Given the description of an element on the screen output the (x, y) to click on. 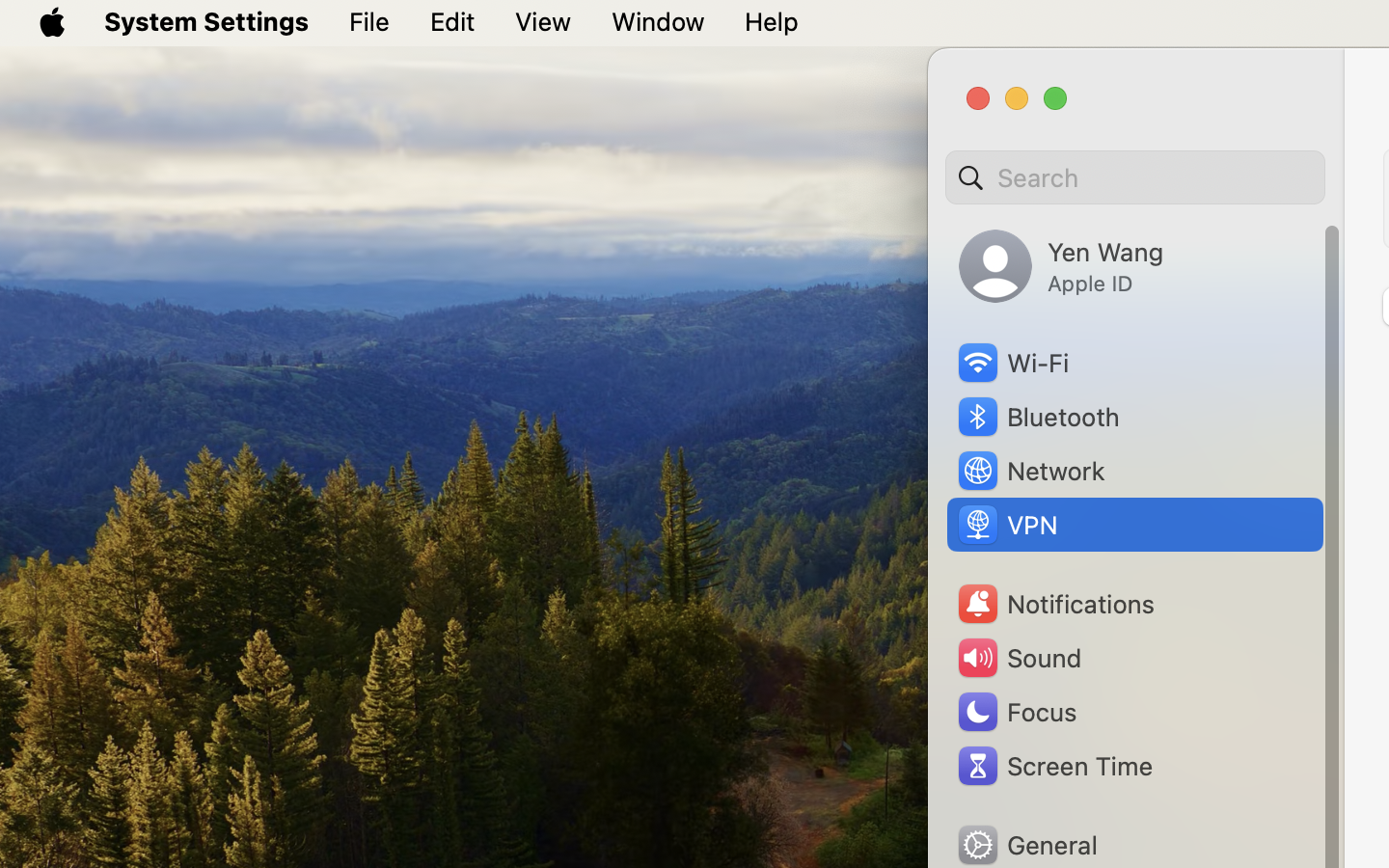
VPN Element type: AXStaticText (1005, 524)
General Element type: AXStaticText (1025, 844)
Notifications Element type: AXStaticText (1054, 603)
Wi‑Fi Element type: AXStaticText (1011, 362)
Network Element type: AXStaticText (1029, 470)
